Given the description of an element on the screen output the (x, y) to click on. 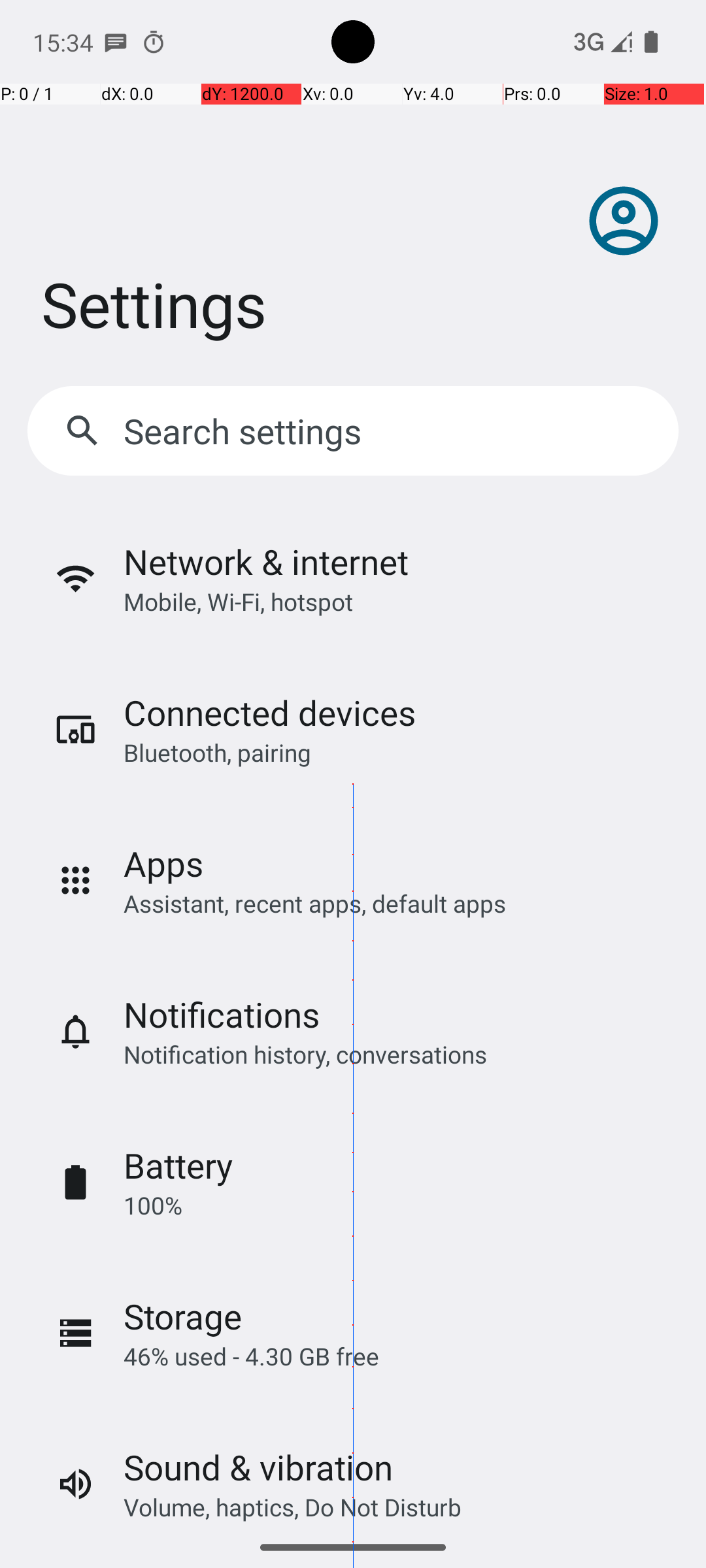
46% used - 4.30 GB free Element type: android.widget.TextView (251, 1355)
